Given the description of an element on the screen output the (x, y) to click on. 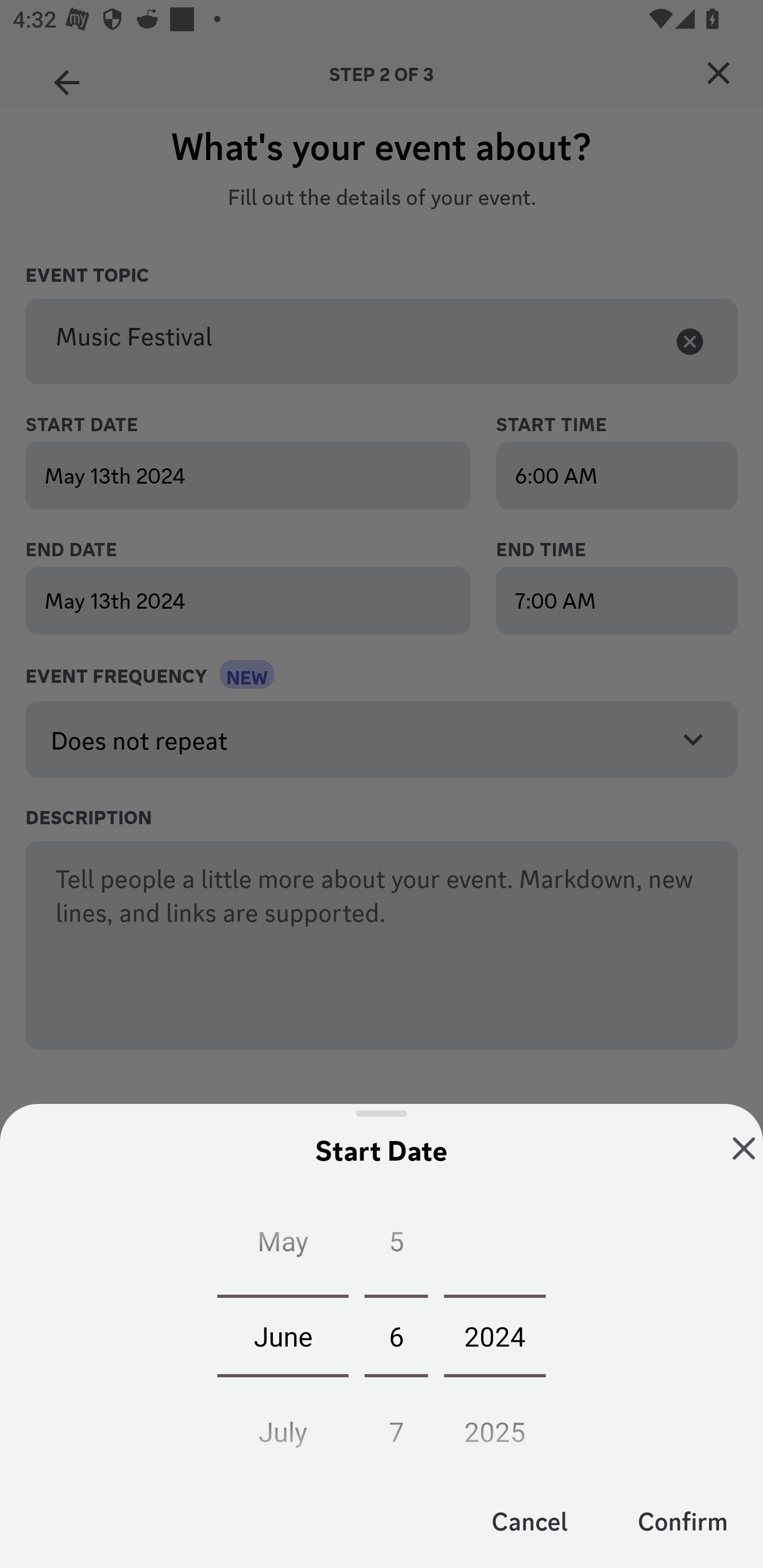
Close (743, 1148)
May (282, 1245)
5 (396, 1245)
June (282, 1335)
6 (396, 1335)
2024 (494, 1335)
July (282, 1425)
7 (396, 1425)
2025 (494, 1425)
Cancel (529, 1520)
Confirm (682, 1520)
